Given the description of an element on the screen output the (x, y) to click on. 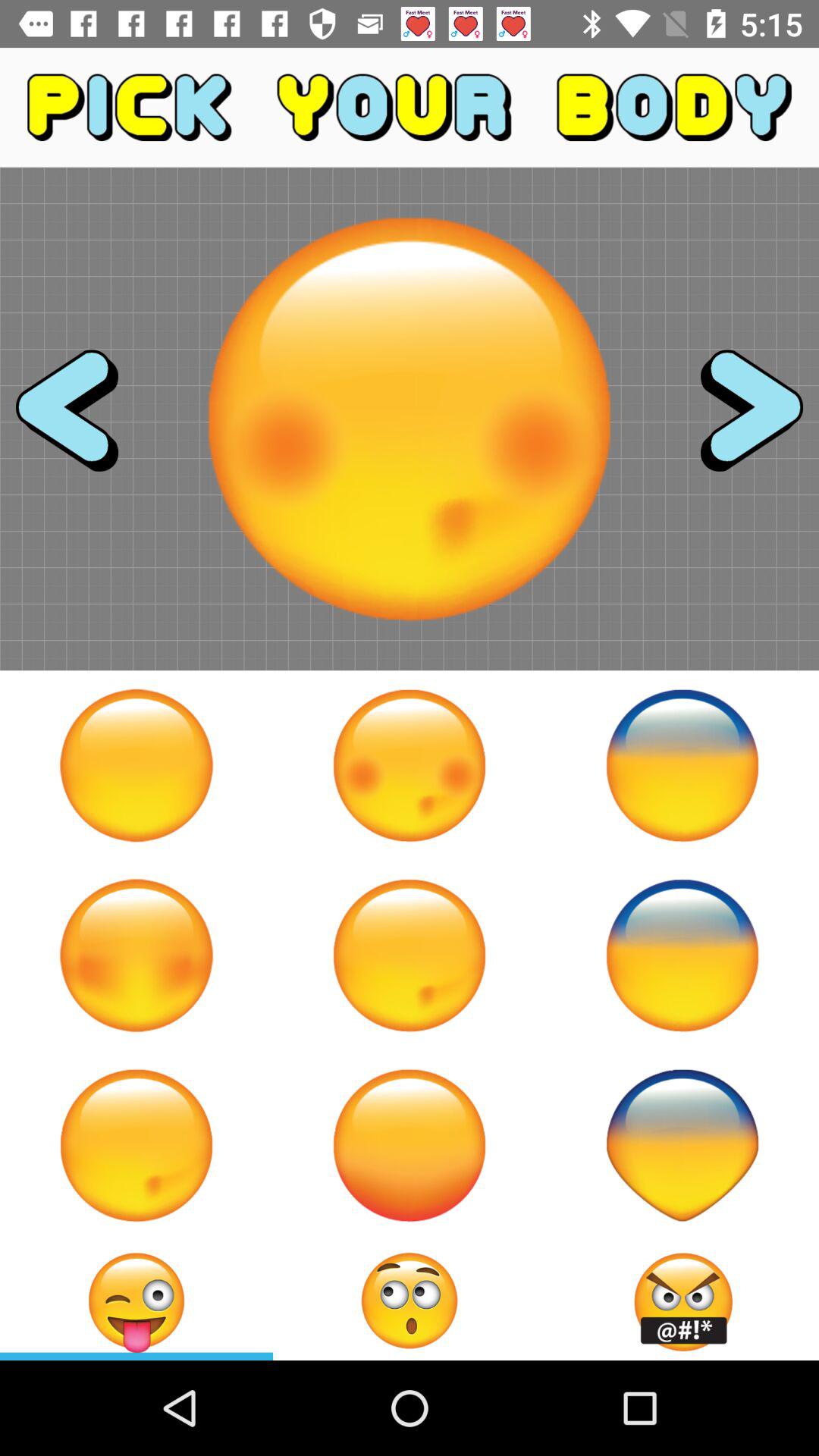
funny simbol (682, 1145)
